Given the description of an element on the screen output the (x, y) to click on. 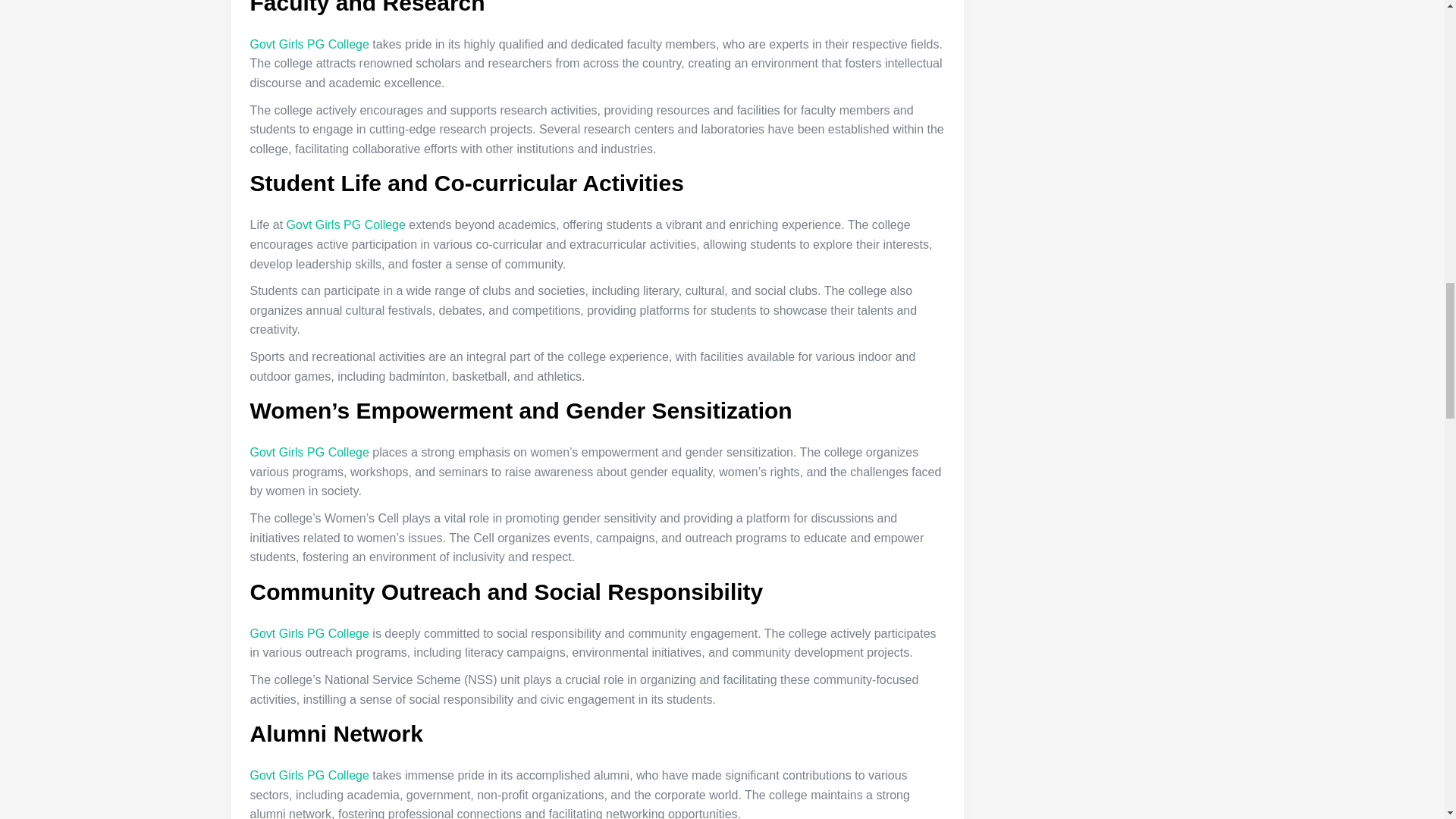
Govt Girls PG College (309, 633)
Govt Girls PG College (346, 224)
Govt Girls PG College (309, 775)
Govt Girls PG College (309, 451)
Govt Girls PG College (309, 43)
